Given the description of an element on the screen output the (x, y) to click on. 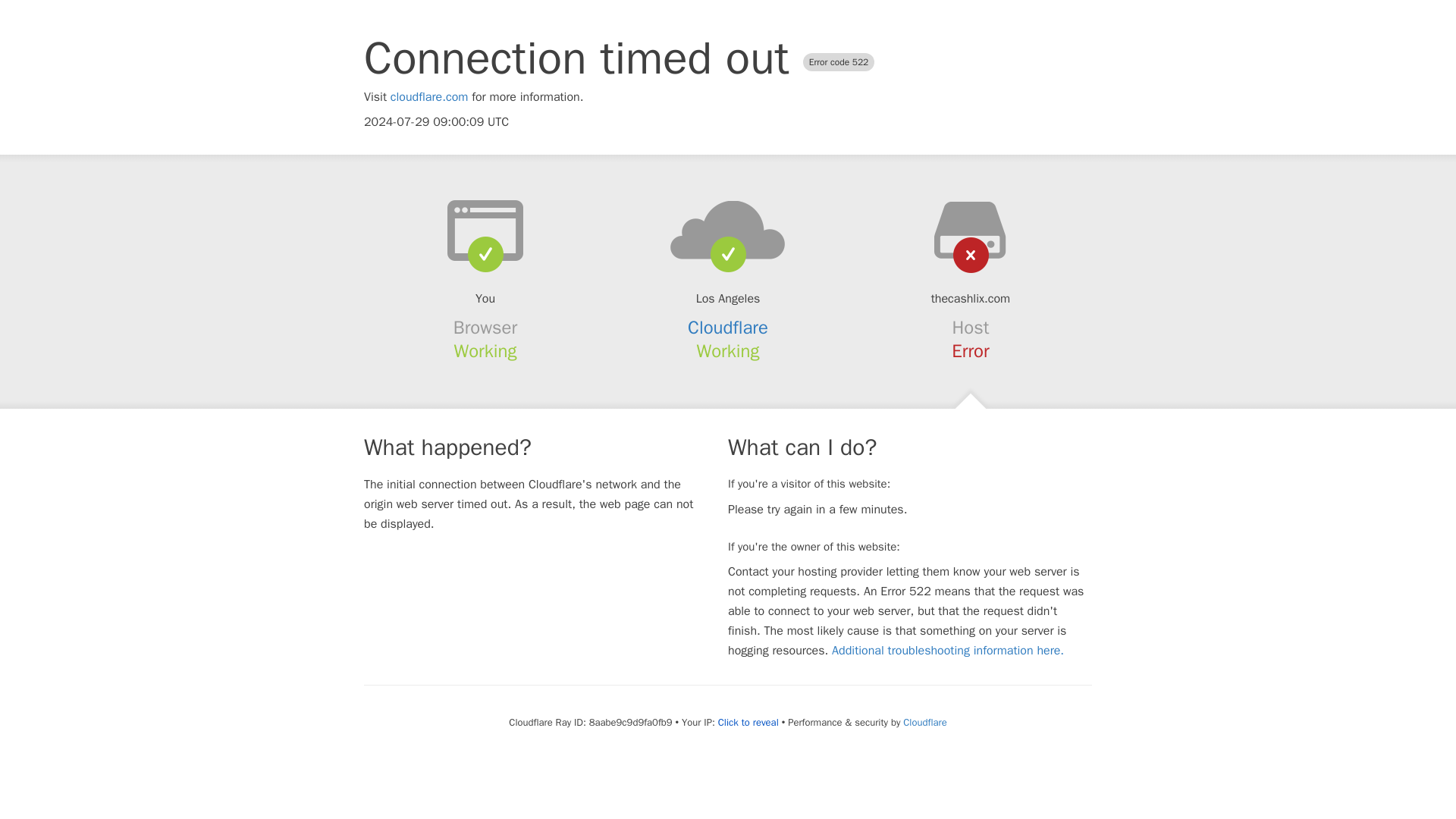
Additional troubleshooting information here. (947, 650)
Cloudflare (727, 327)
Click to reveal (747, 722)
Cloudflare (924, 721)
cloudflare.com (429, 96)
